Given the description of an element on the screen output the (x, y) to click on. 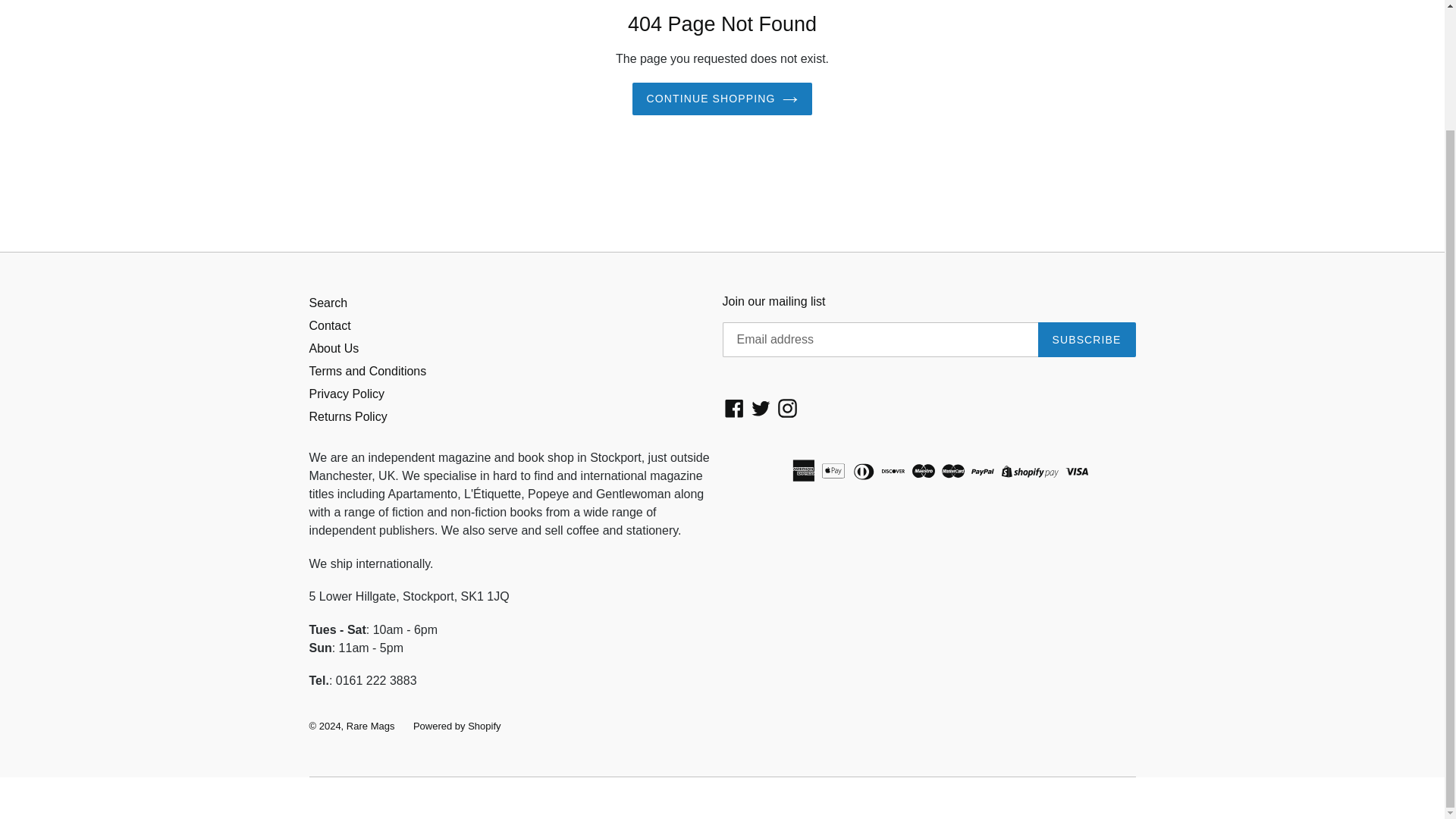
Rare Mags on Instagram (787, 407)
Rare Mags on Twitter (761, 407)
Rare Mags on Facebook (733, 407)
